Given the description of an element on the screen output the (x, y) to click on. 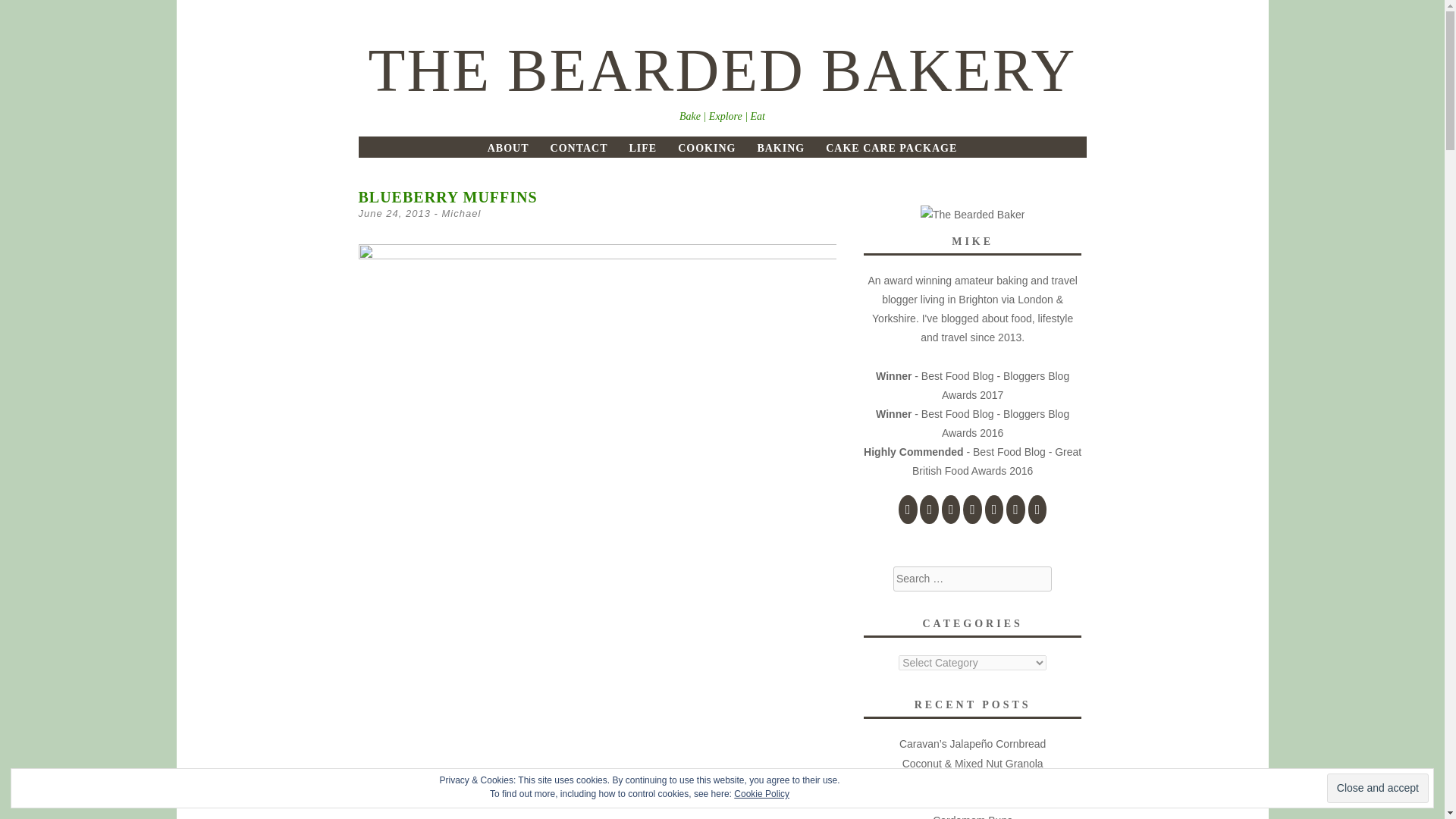
LIFE (642, 147)
CONTACT (579, 147)
BAKING (781, 147)
THE BEARDED BAKERY (722, 70)
ABOUT (508, 147)
Michael (460, 213)
Close and accept (1377, 788)
June 24, 2013 (393, 213)
CAKE CARE PACKAGE (890, 147)
